Given the description of an element on the screen output the (x, y) to click on. 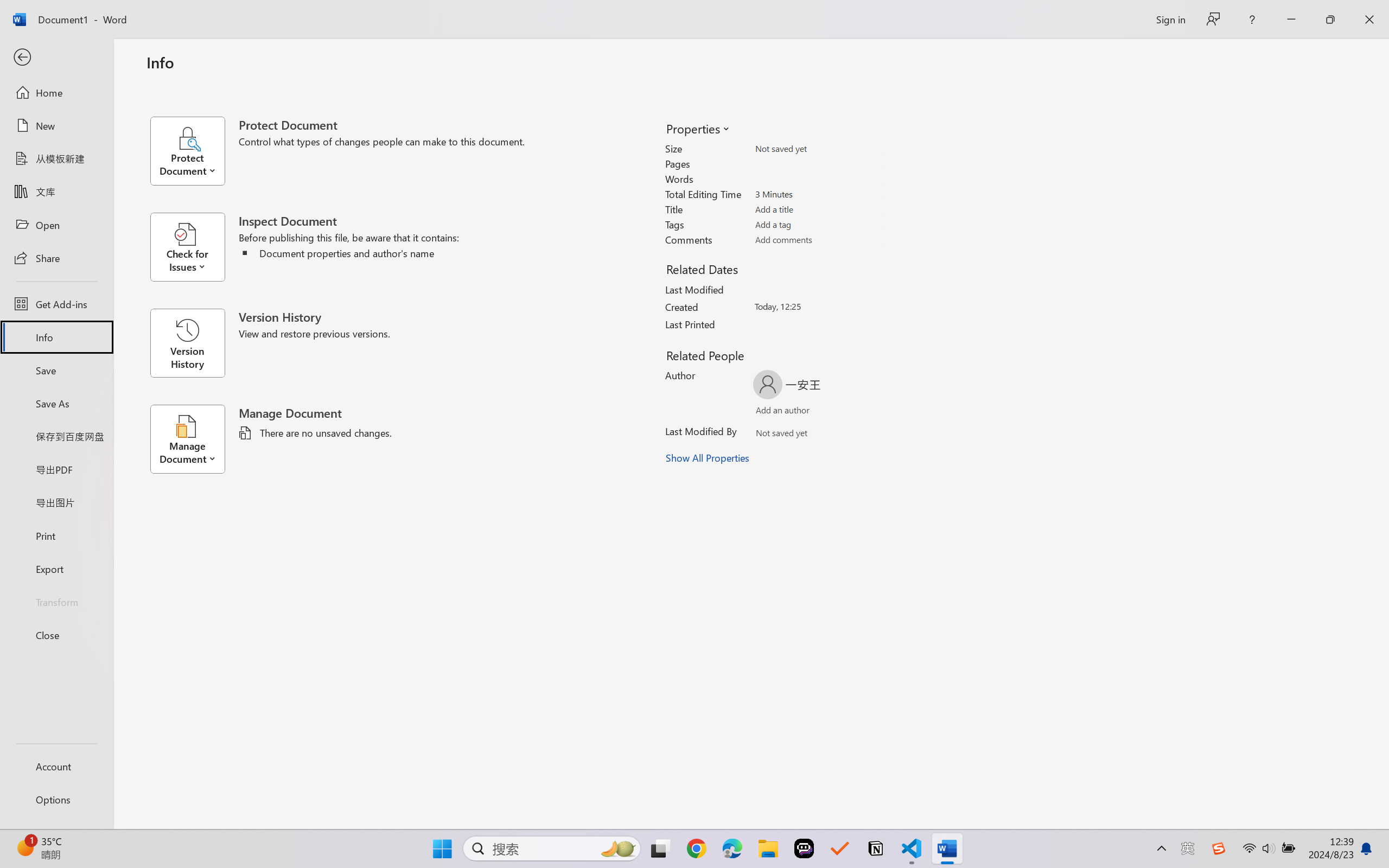
Sign in - Google Accounts (957, 12)
Third-party cookies blocked (1293, 37)
PDD Holdings Inc - ADR (PDD) Price & News - Google Finance (471, 12)
Control your music, videos, and more (1338, 37)
Cancel (785, 135)
